Given the description of an element on the screen output the (x, y) to click on. 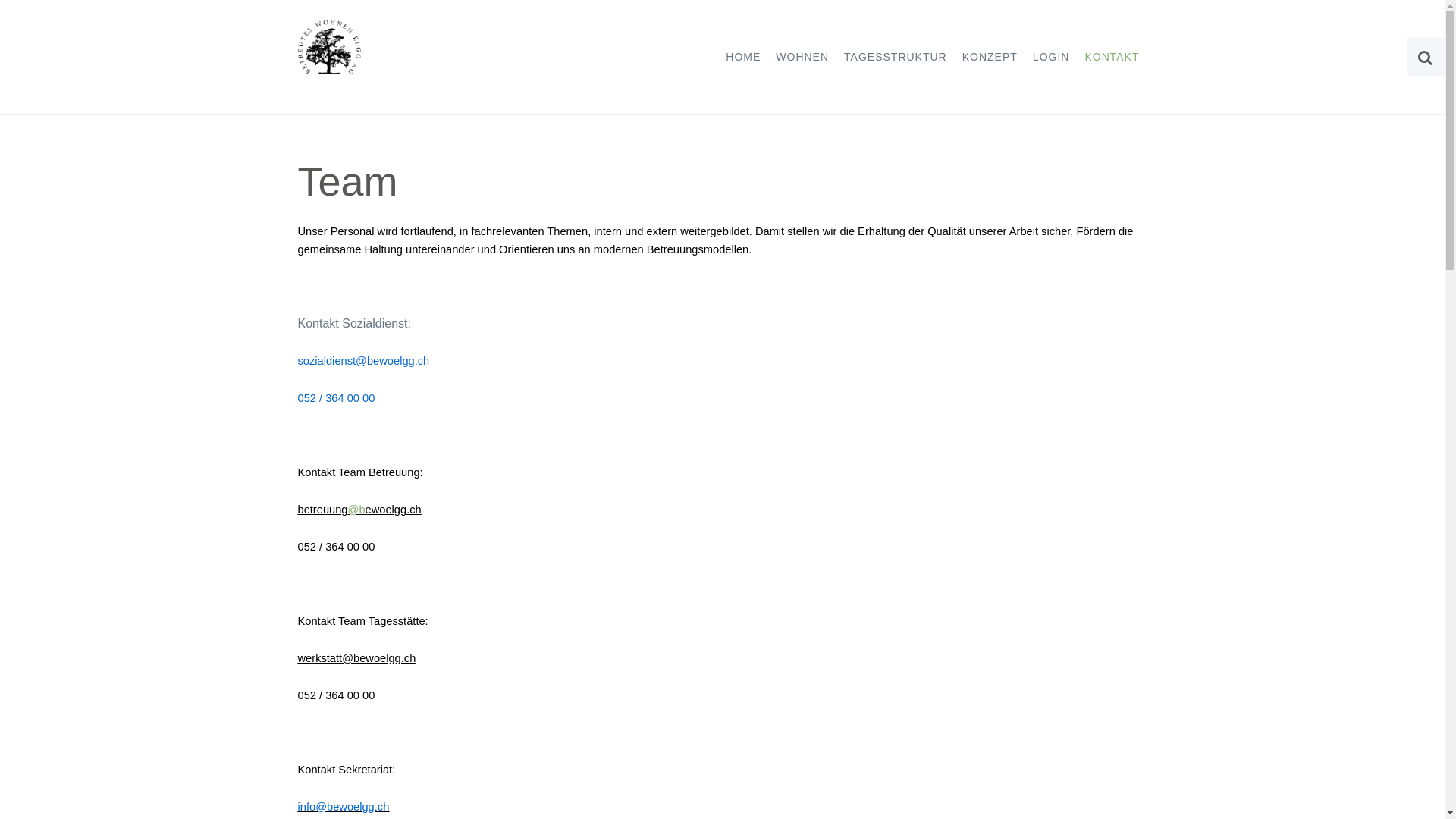
WOHNEN Element type: text (802, 56)
KONTAKT Element type: text (1111, 56)
LOGIN Element type: text (1051, 56)
@b Element type: text (356, 509)
TAGESSTRUKTUR Element type: text (895, 56)
HOME Element type: text (743, 56)
KONZEPT Element type: text (989, 56)
